Given the description of an element on the screen output the (x, y) to click on. 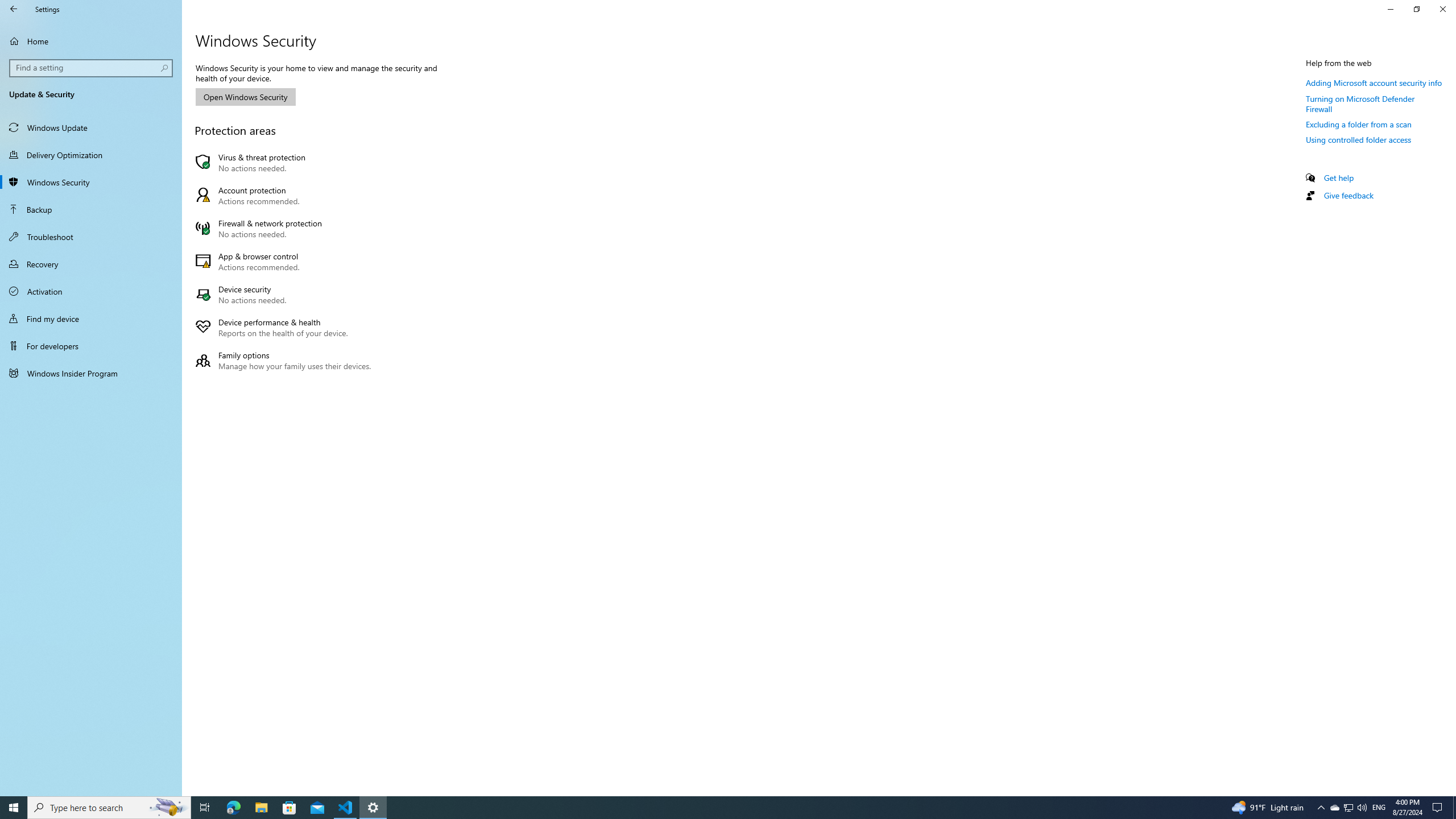
Running applications (706, 807)
File Explorer (261, 807)
Minimize Settings (1390, 9)
Firewall & network protection No actions needed. (285, 228)
Back (13, 9)
Type here to search (108, 807)
User Promoted Notification Area (1347, 807)
Troubleshoot (91, 236)
Microsoft Store (289, 807)
Windows Update (91, 126)
Find my device (91, 318)
Search box, Find a setting (91, 67)
Get help (1338, 177)
Activation (91, 290)
App & browser control Actions recommended. (285, 261)
